Given the description of an element on the screen output the (x, y) to click on. 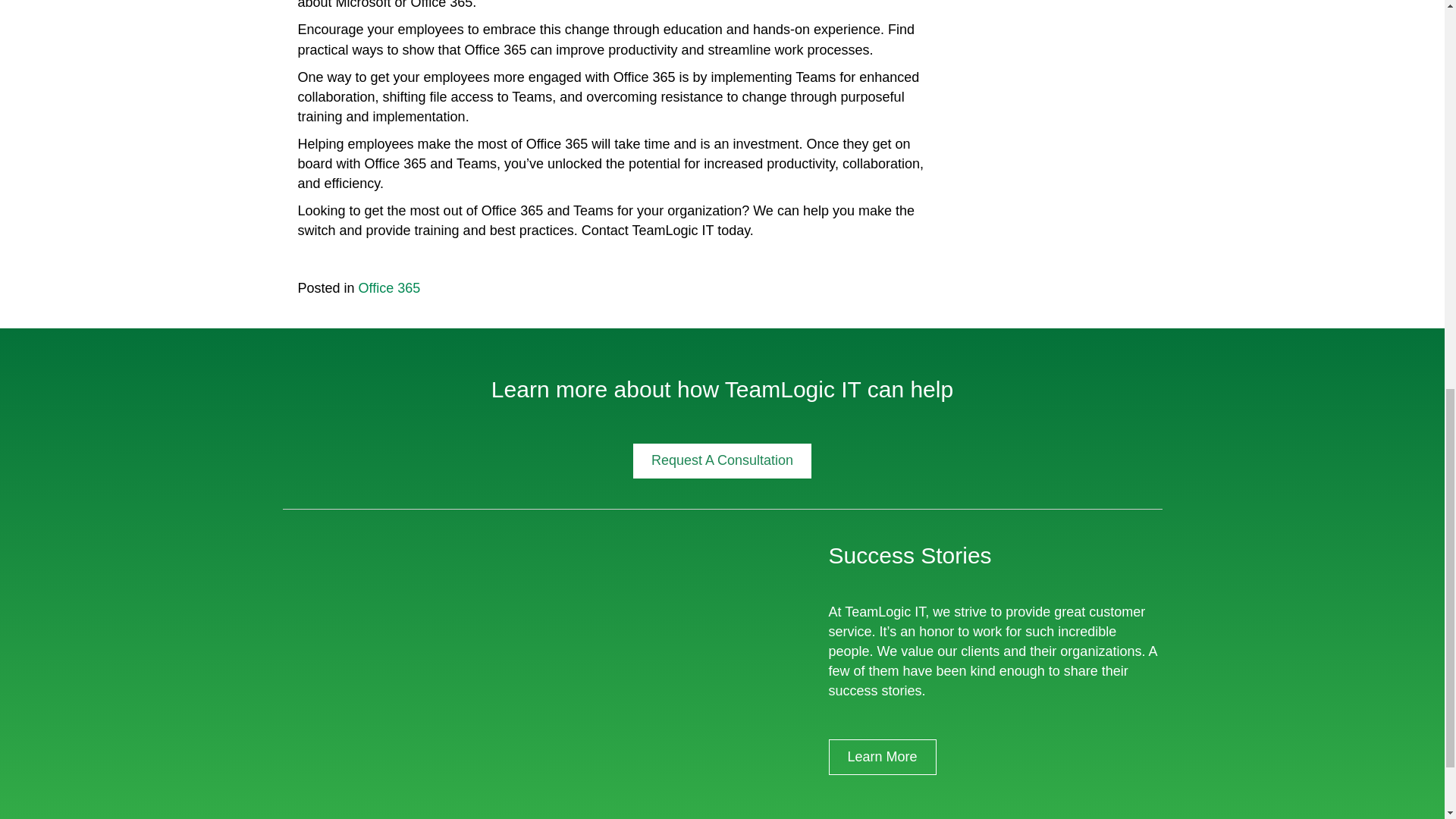
Office 365 (389, 287)
Learn More (882, 757)
Request A Consultation (721, 460)
